Given the description of an element on the screen output the (x, y) to click on. 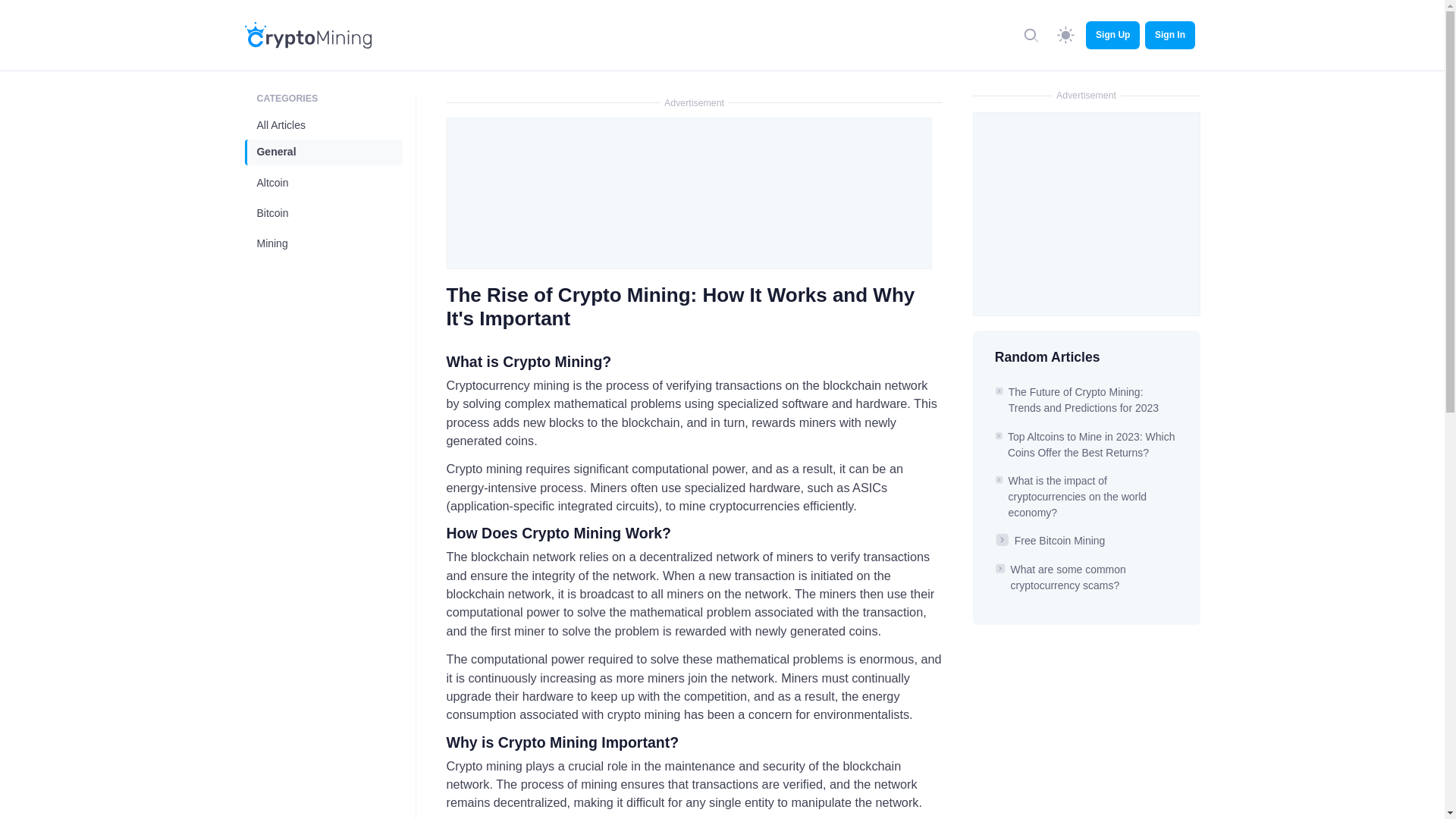
Sign In (1169, 35)
Mining (325, 243)
Sign Up (1113, 35)
General (325, 152)
Free Bitcoin Mining (1059, 540)
Altcoin (325, 182)
What are some common cryptocurrency scams? (1067, 577)
Altcoin (325, 182)
Sign Up (1113, 35)
What are some common cryptocurrency scams? (1067, 577)
The Future of Crypto Mining: Trends and Predictions for 2023 (1083, 399)
What is the impact of cryptocurrencies on the world economy? (1078, 496)
Sign In (1169, 35)
Crypto Mining Best (307, 35)
General (325, 152)
